Given the description of an element on the screen output the (x, y) to click on. 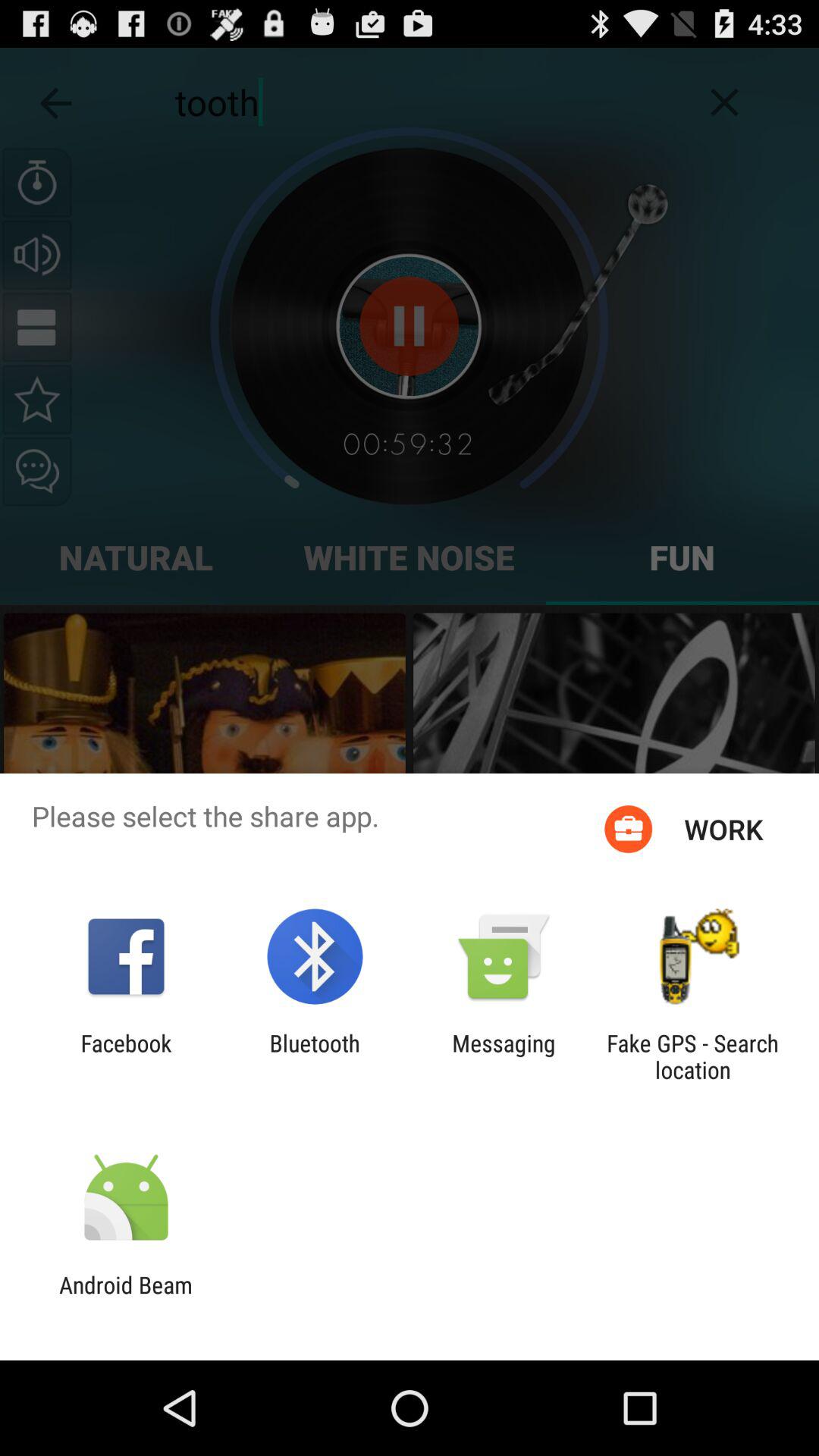
select the item to the right of the bluetooth icon (503, 1056)
